Given the description of an element on the screen output the (x, y) to click on. 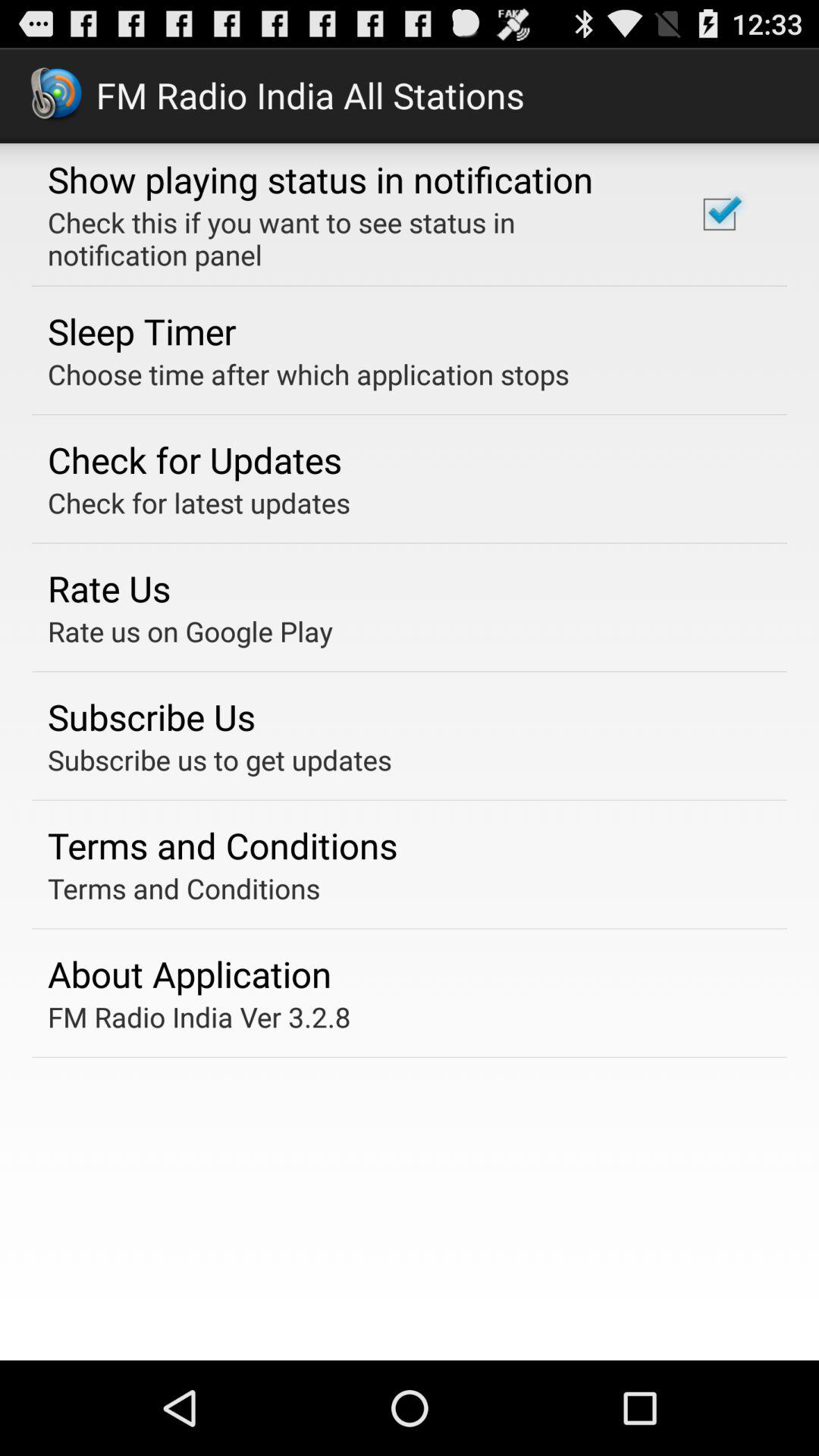
jump until show playing status app (320, 179)
